Given the description of an element on the screen output the (x, y) to click on. 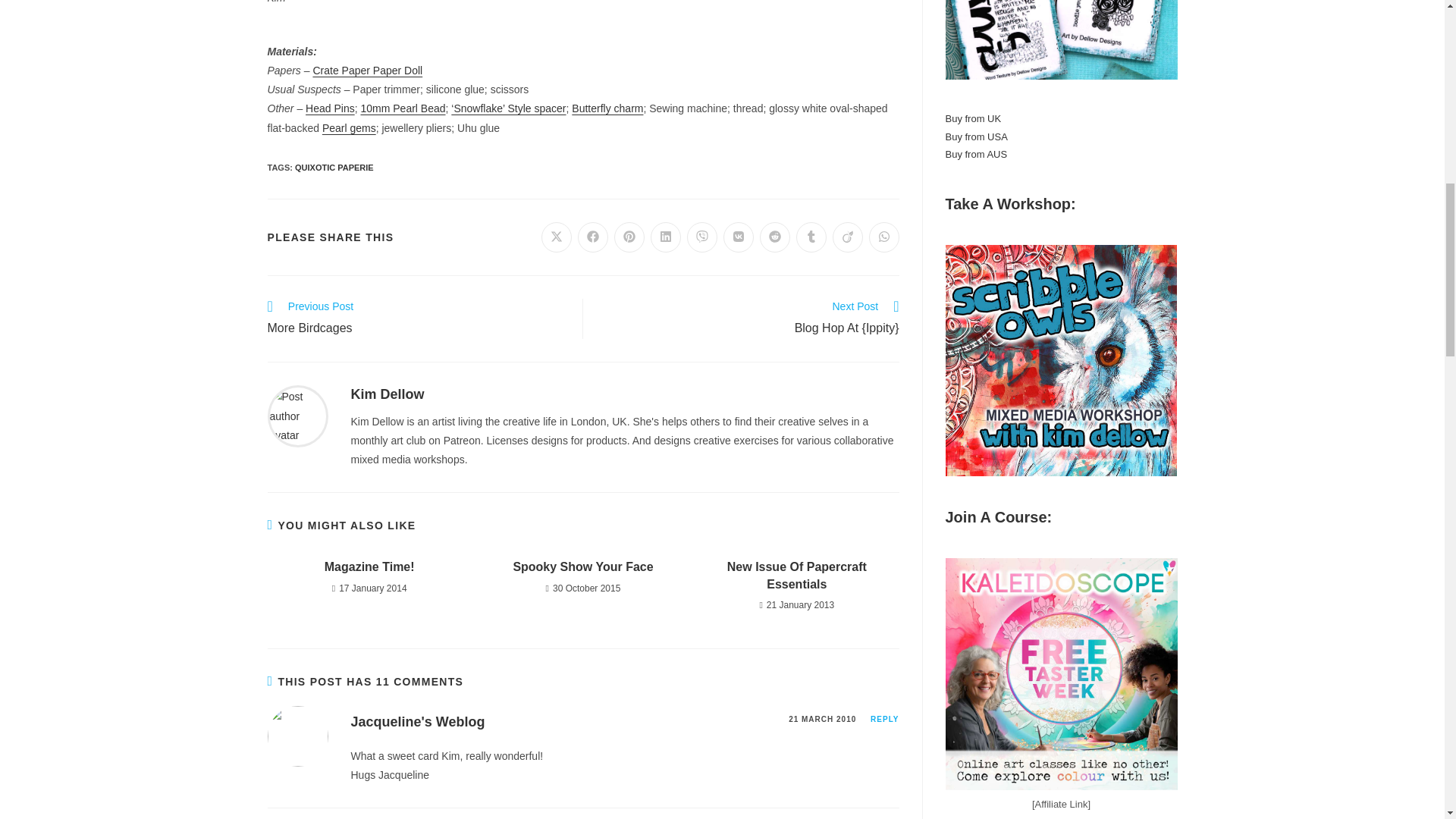
Head Pins (330, 108)
10mm Pearl Bead (402, 108)
Visit author page (296, 415)
Butterfly charm (607, 108)
Visit author page (386, 394)
Crate Paper Paper Doll (367, 70)
